Given the description of an element on the screen output the (x, y) to click on. 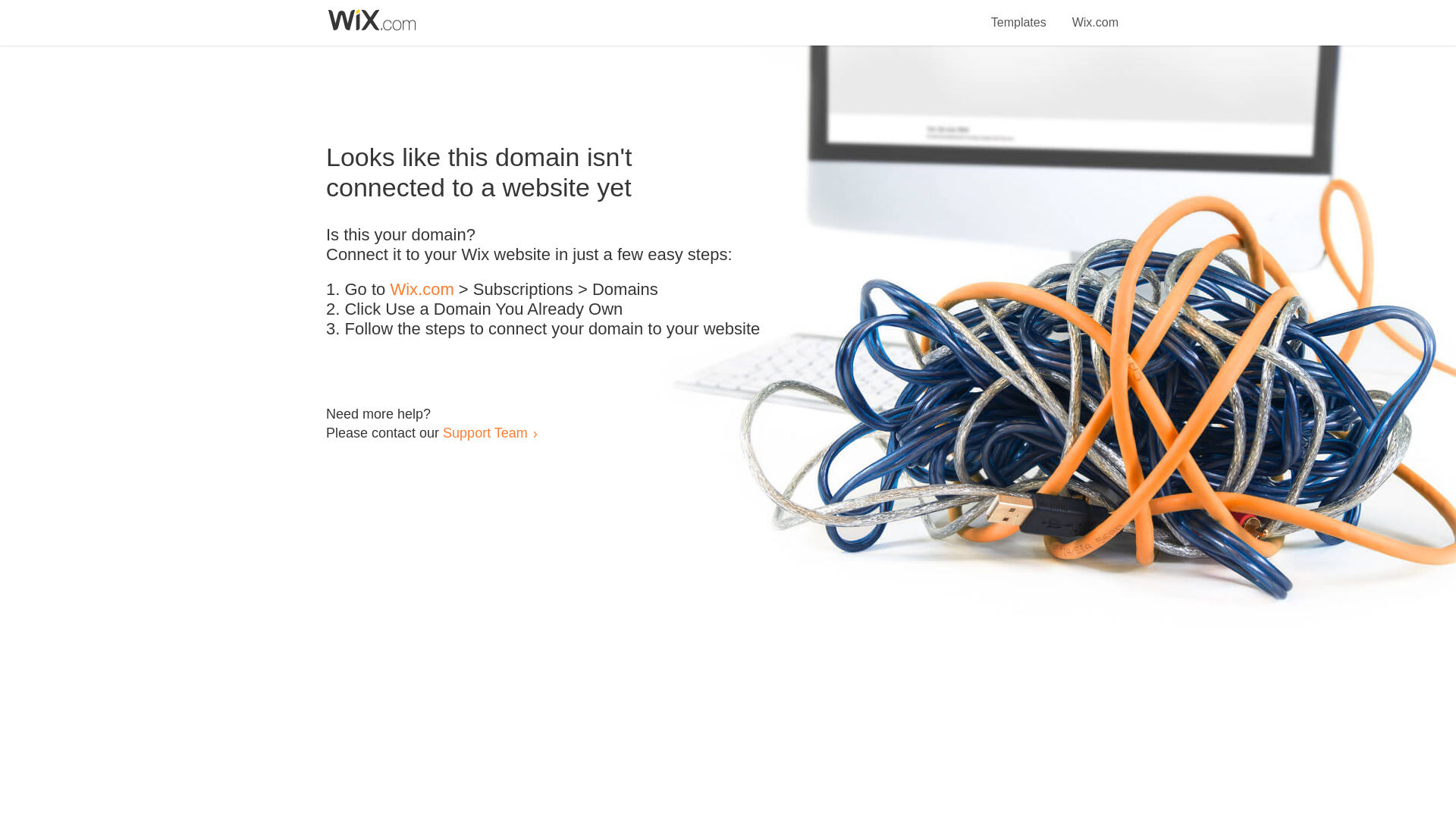
Wix.com (421, 289)
Templates (1018, 14)
Wix.com (1095, 14)
Support Team (484, 432)
